Given the description of an element on the screen output the (x, y) to click on. 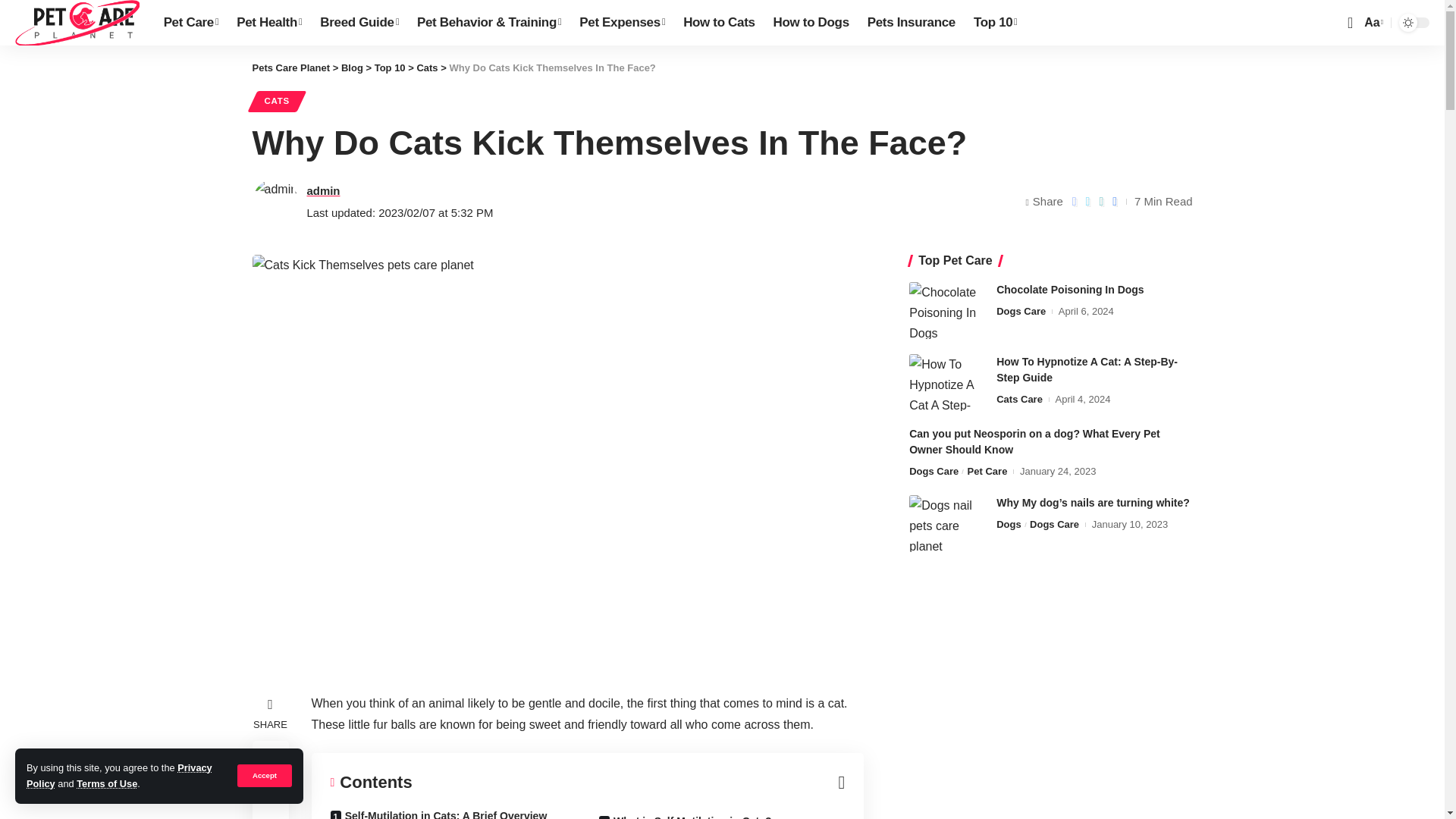
How to Cats (718, 22)
Go to Pets Care Planet. (290, 67)
Go to the Top 10 Category archives. (390, 67)
Top 10 (994, 22)
Breed Guide (359, 22)
Accept (264, 775)
Terms of Use (106, 783)
Chocolate Poisoning In Dogs (946, 310)
Go to the Cats Category archives. (427, 67)
Pets Care Planet (76, 22)
